Given the description of an element on the screen output the (x, y) to click on. 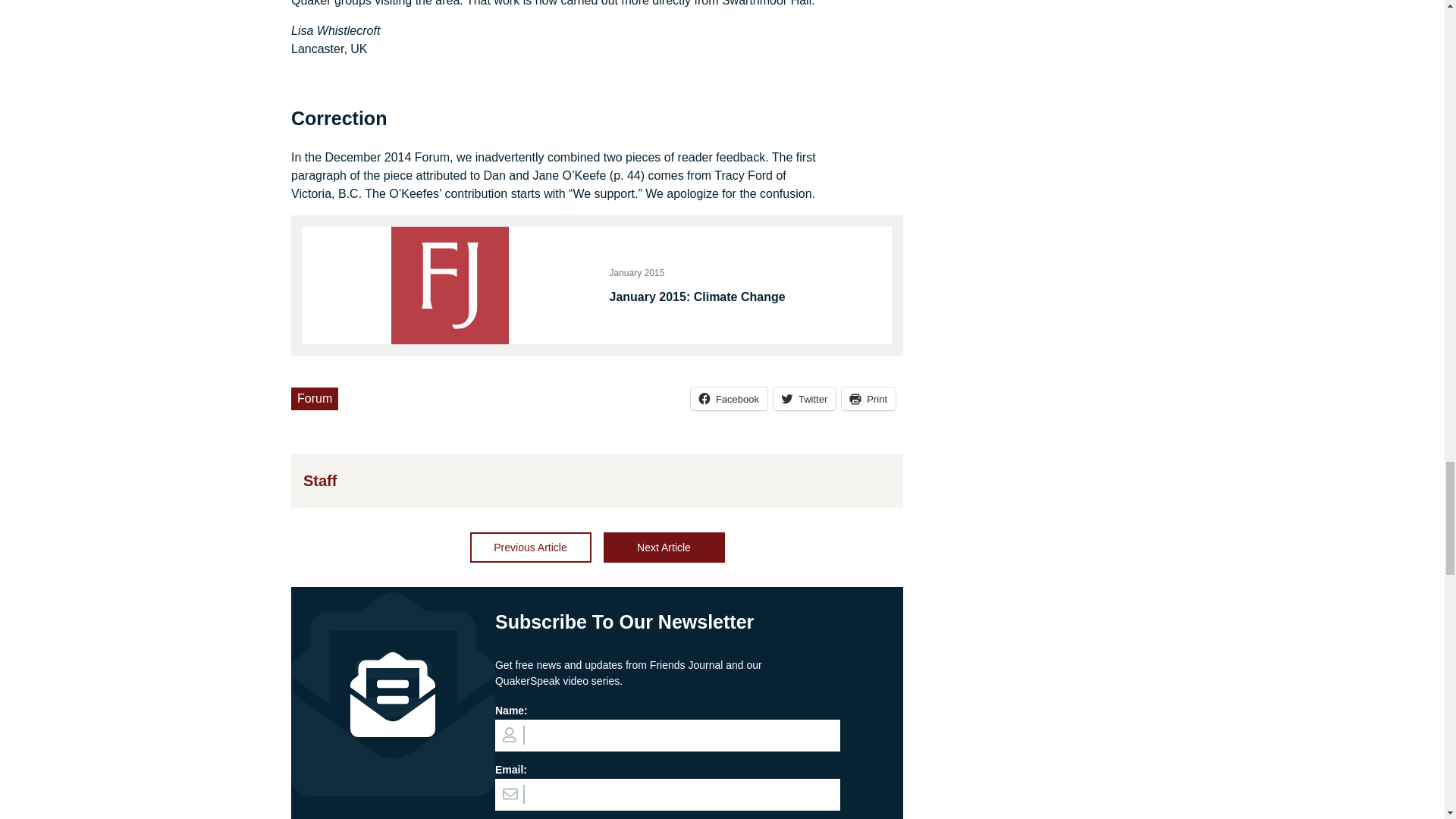
Click to share on Twitter (804, 398)
Previous Article (530, 547)
Click to print (868, 398)
Twitter (804, 398)
Facebook (728, 398)
Staff (319, 480)
Forum (314, 398)
Print (868, 398)
Next Article (664, 547)
Click to share on Facebook (728, 398)
January 2015: Climate Change (745, 296)
